Given the description of an element on the screen output the (x, y) to click on. 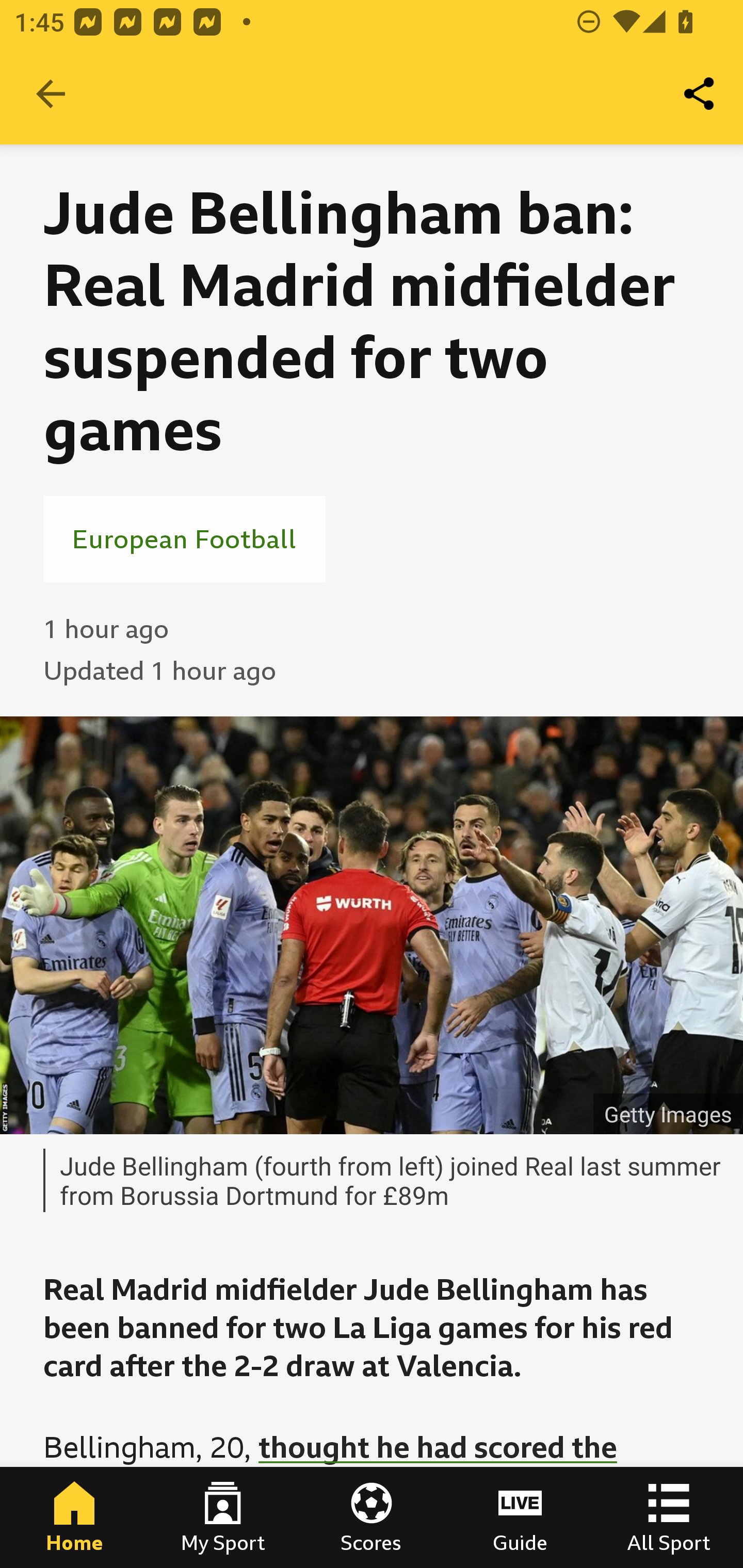
Navigate up (50, 93)
Share (699, 93)
European Football (184, 538)
My Sport (222, 1517)
Scores (371, 1517)
Guide (519, 1517)
All Sport (668, 1517)
